Given the description of an element on the screen output the (x, y) to click on. 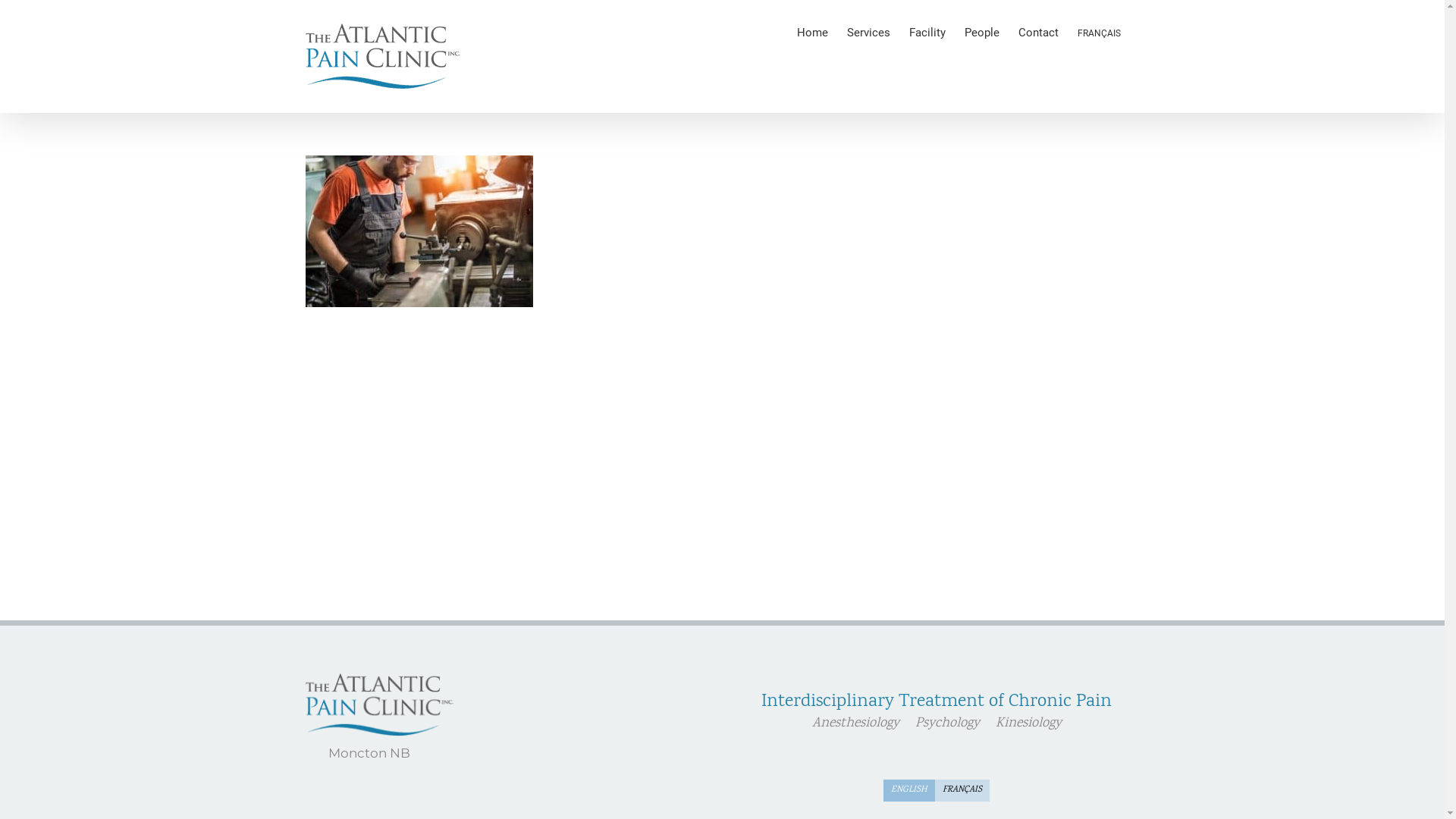
Home Element type: text (811, 31)
People Element type: text (981, 31)
ENGLISH Element type: text (909, 790)
Services Element type: text (867, 31)
Facility Element type: text (926, 31)
Contact Element type: text (1037, 31)
